Given the description of an element on the screen output the (x, y) to click on. 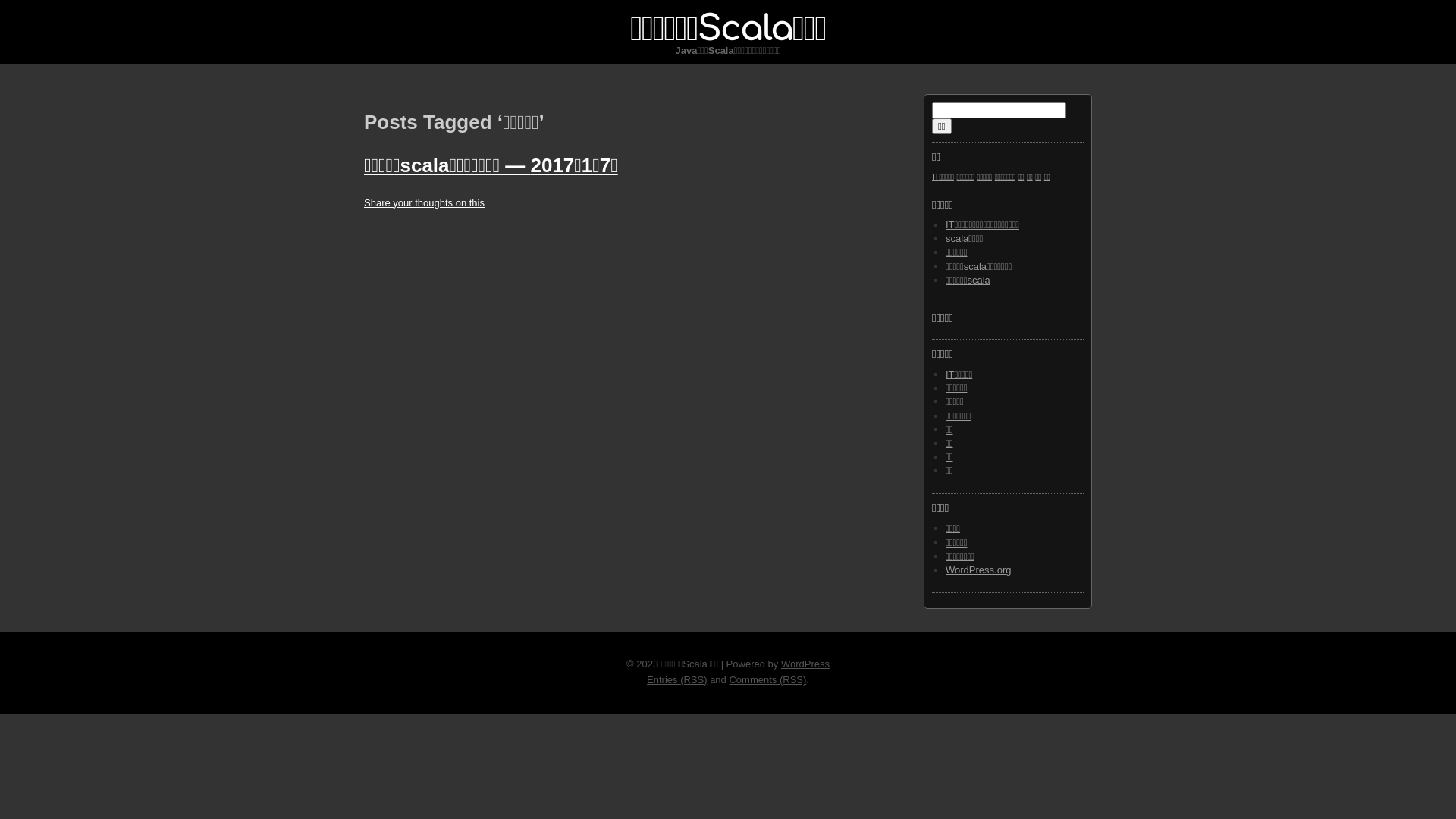
Entries (RSS) Element type: text (676, 679)
Share your thoughts on this Element type: text (424, 202)
WordPress.org Element type: text (977, 569)
WordPress Element type: text (805, 663)
Comments (RSS) Element type: text (767, 679)
